Given the description of an element on the screen output the (x, y) to click on. 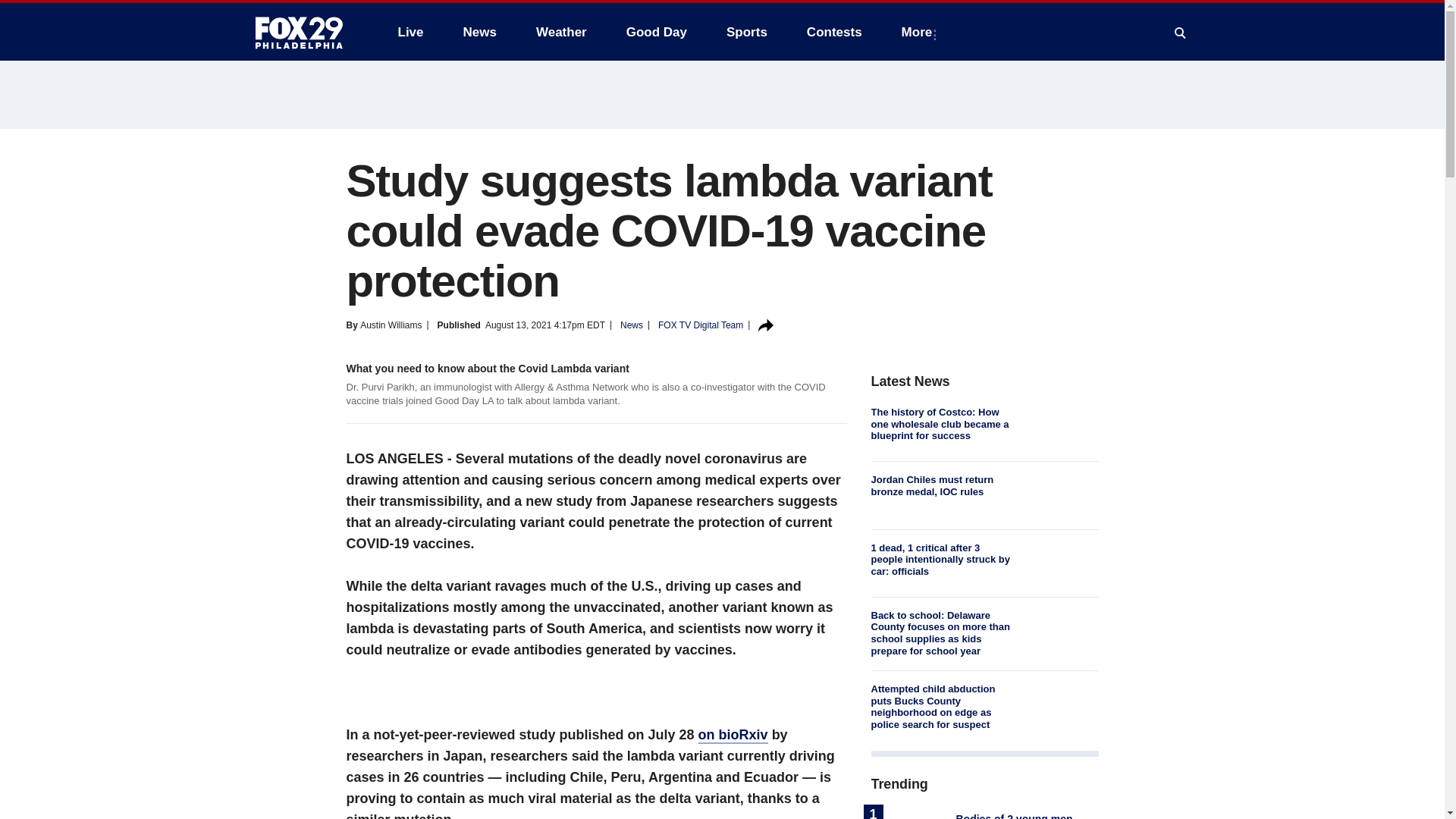
More (919, 32)
Live (410, 32)
Weather (561, 32)
Contests (834, 32)
News (479, 32)
Sports (746, 32)
Good Day (656, 32)
